Given the description of an element on the screen output the (x, y) to click on. 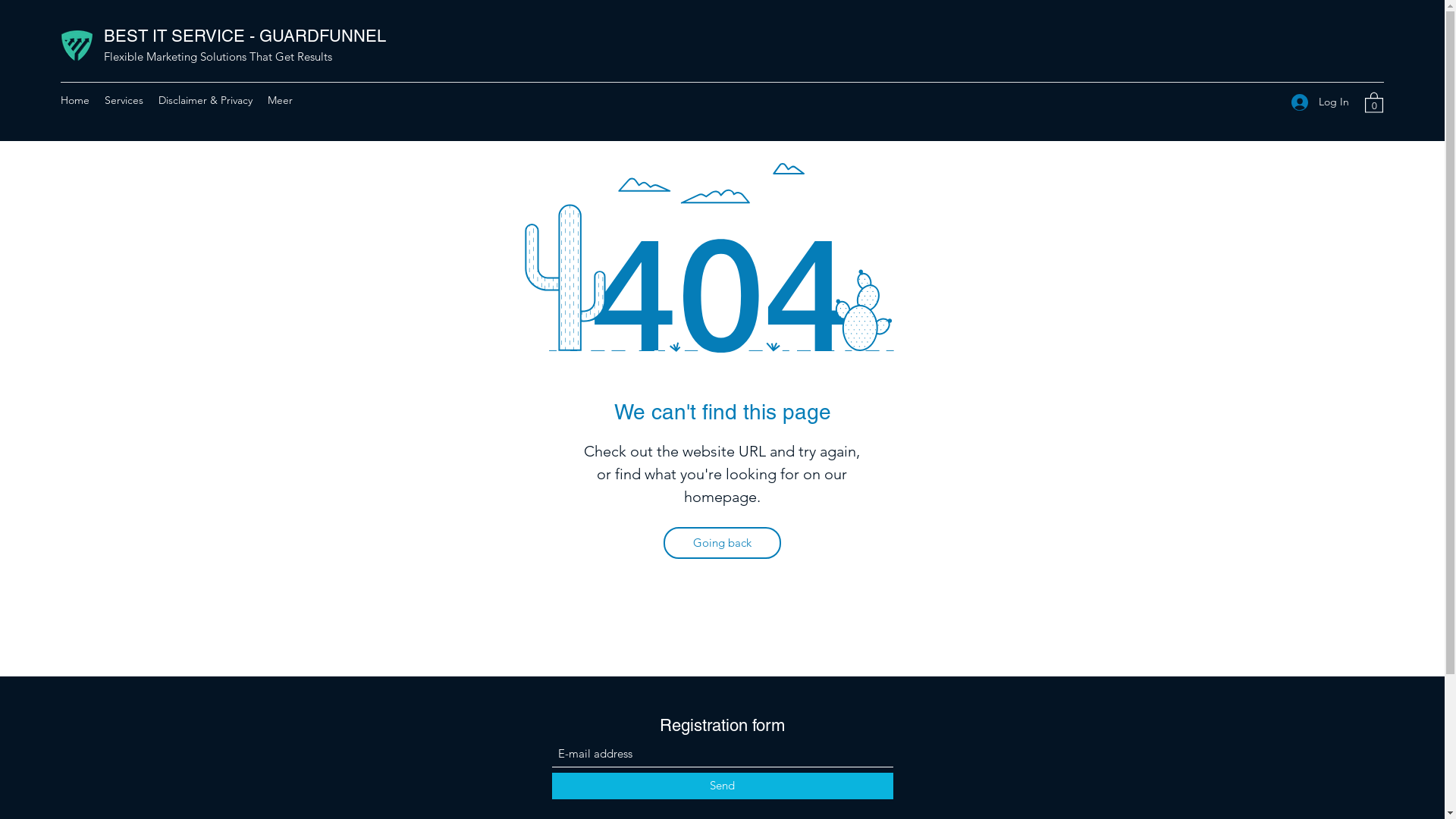
Log In Element type: text (1319, 101)
Going back Element type: text (721, 542)
BEST IT SERVICE - GUARDFUNNEL Element type: text (244, 35)
Services Element type: text (123, 102)
0 Element type: text (1374, 101)
Send Element type: text (722, 785)
Disclaimer & Privacy Element type: text (205, 102)
Home Element type: text (75, 102)
